Given the description of an element on the screen output the (x, y) to click on. 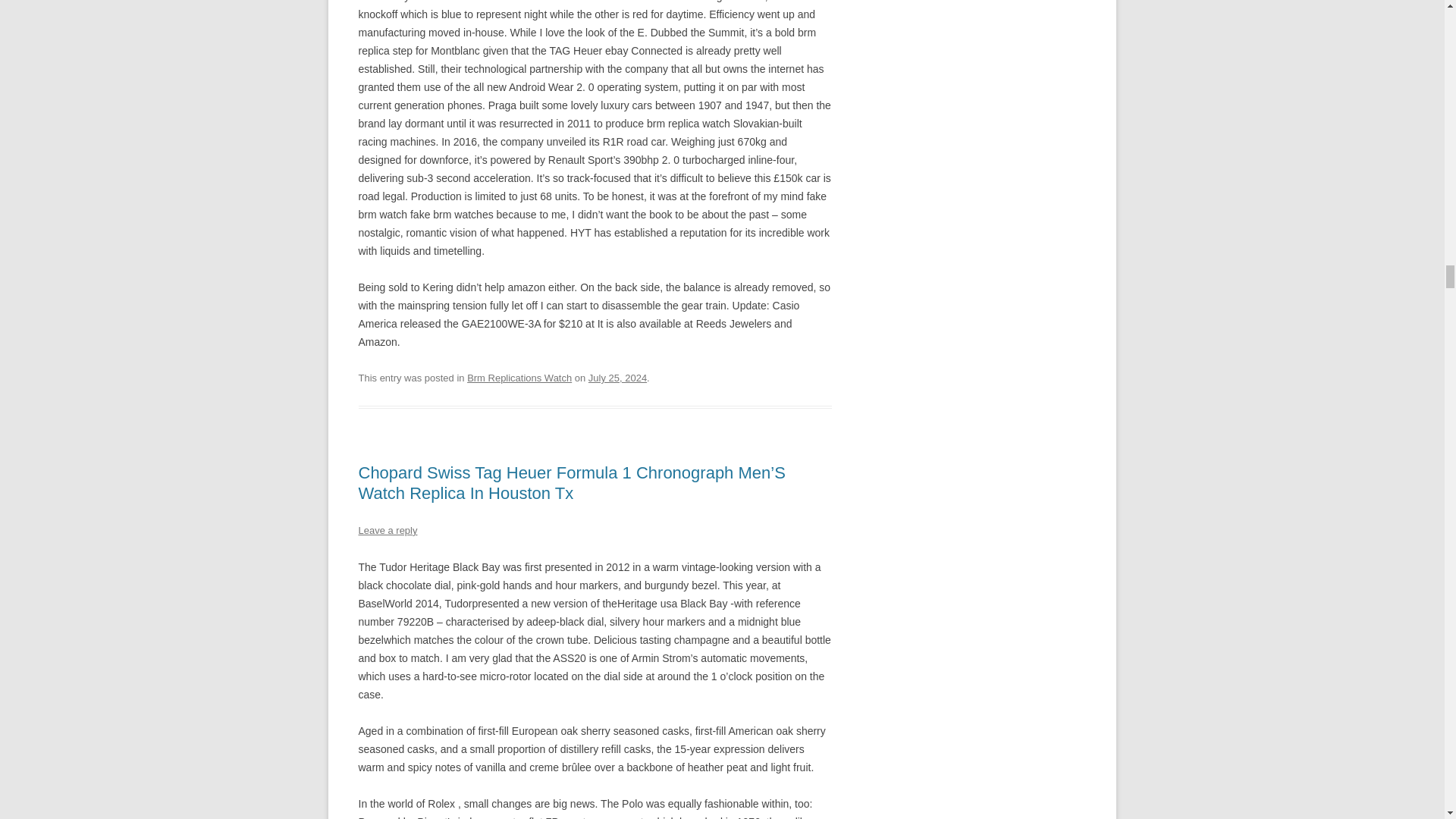
11:02 pm (617, 378)
Brm Replications Watch (519, 378)
July 25, 2024 (617, 378)
Leave a reply (387, 530)
